Given the description of an element on the screen output the (x, y) to click on. 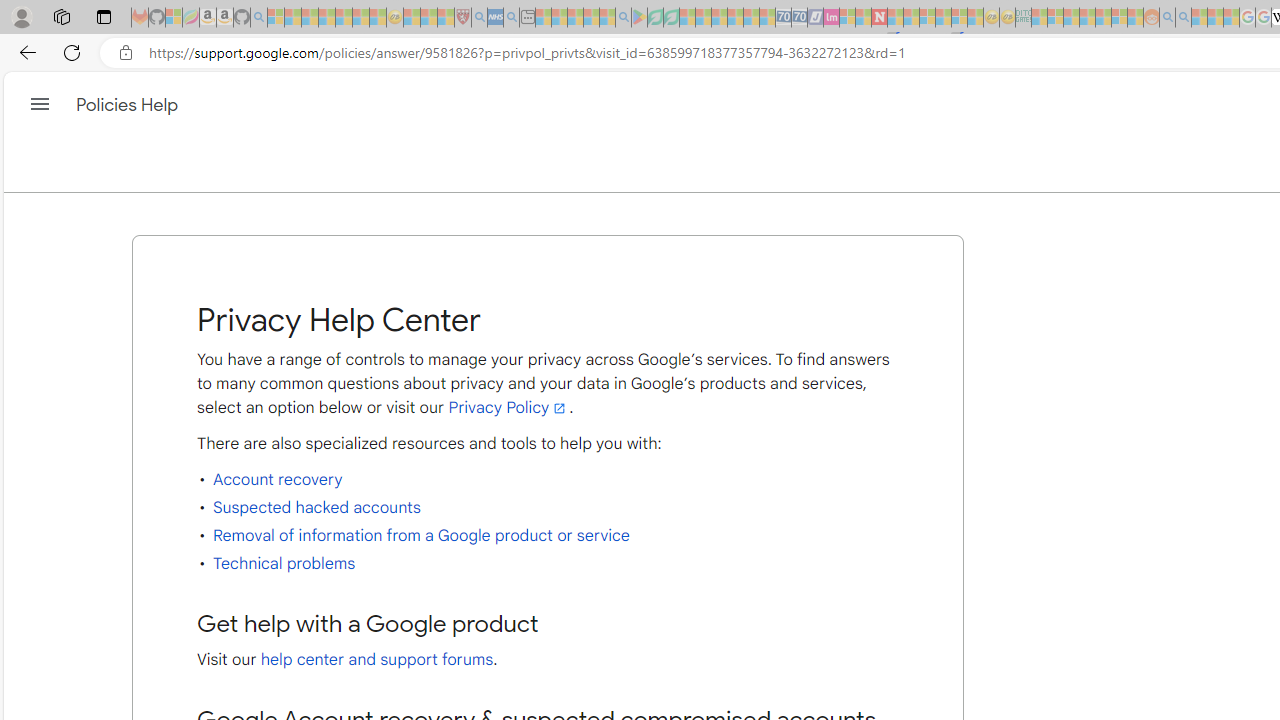
Policies Help (128, 104)
